Given the description of an element on the screen output the (x, y) to click on. 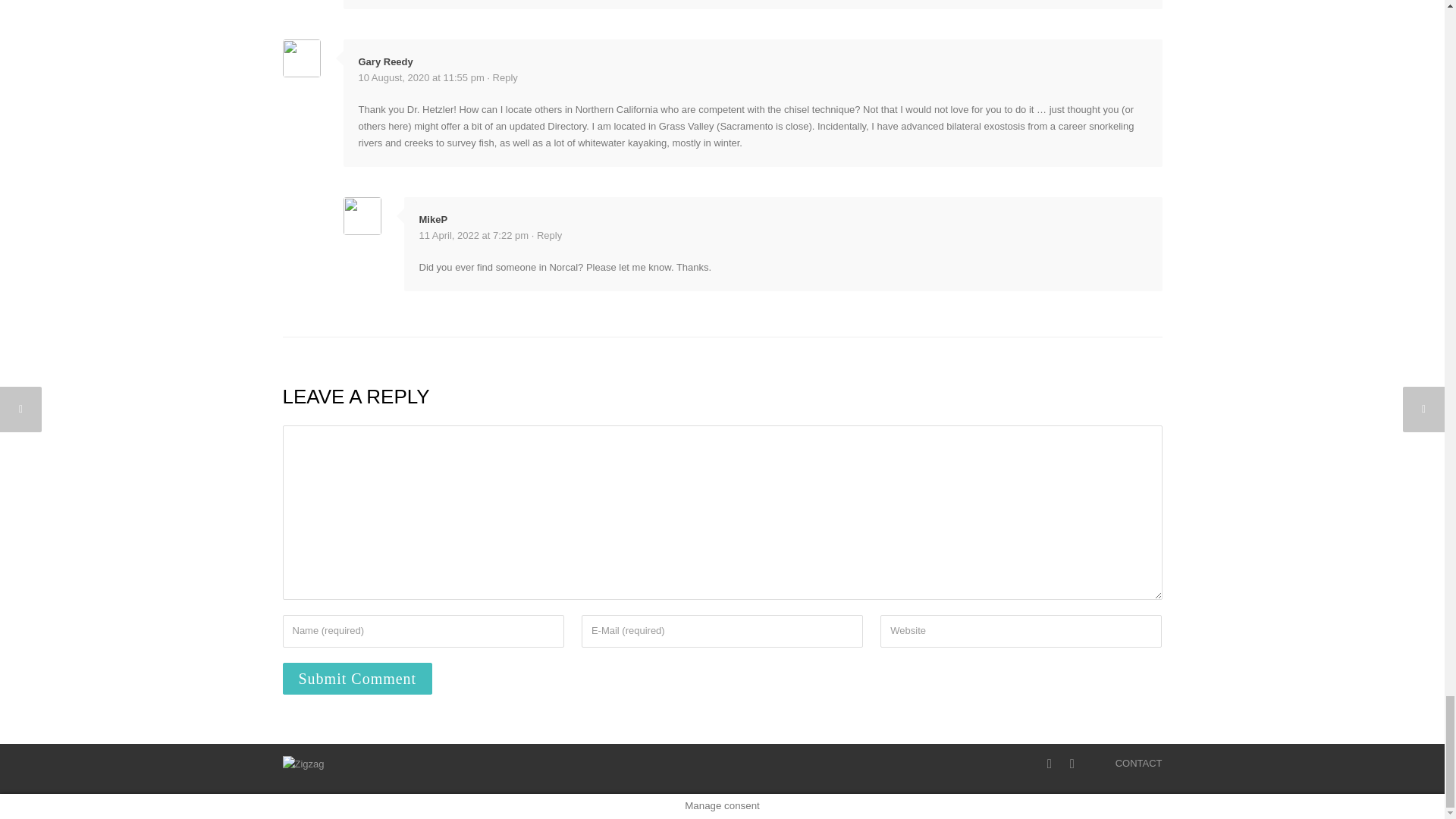
Reply (505, 77)
Website (1020, 631)
Reply (549, 235)
Gary Reedy (385, 61)
Submit Comment (357, 678)
